Given the description of an element on the screen output the (x, y) to click on. 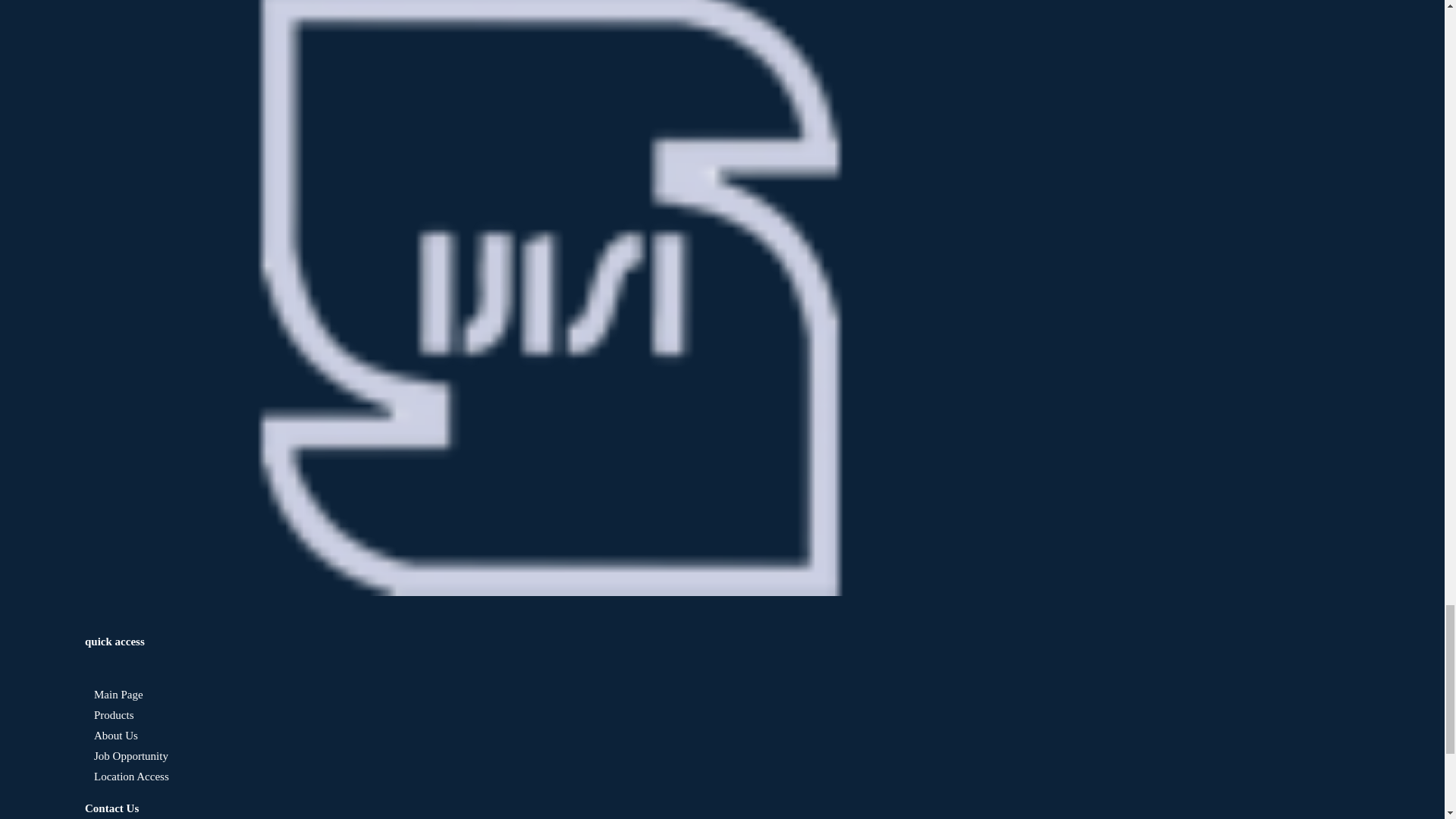
Location Access (126, 776)
Main Page (113, 694)
Job Opportunity (126, 756)
Products (108, 715)
About Us (111, 735)
